Given the description of an element on the screen output the (x, y) to click on. 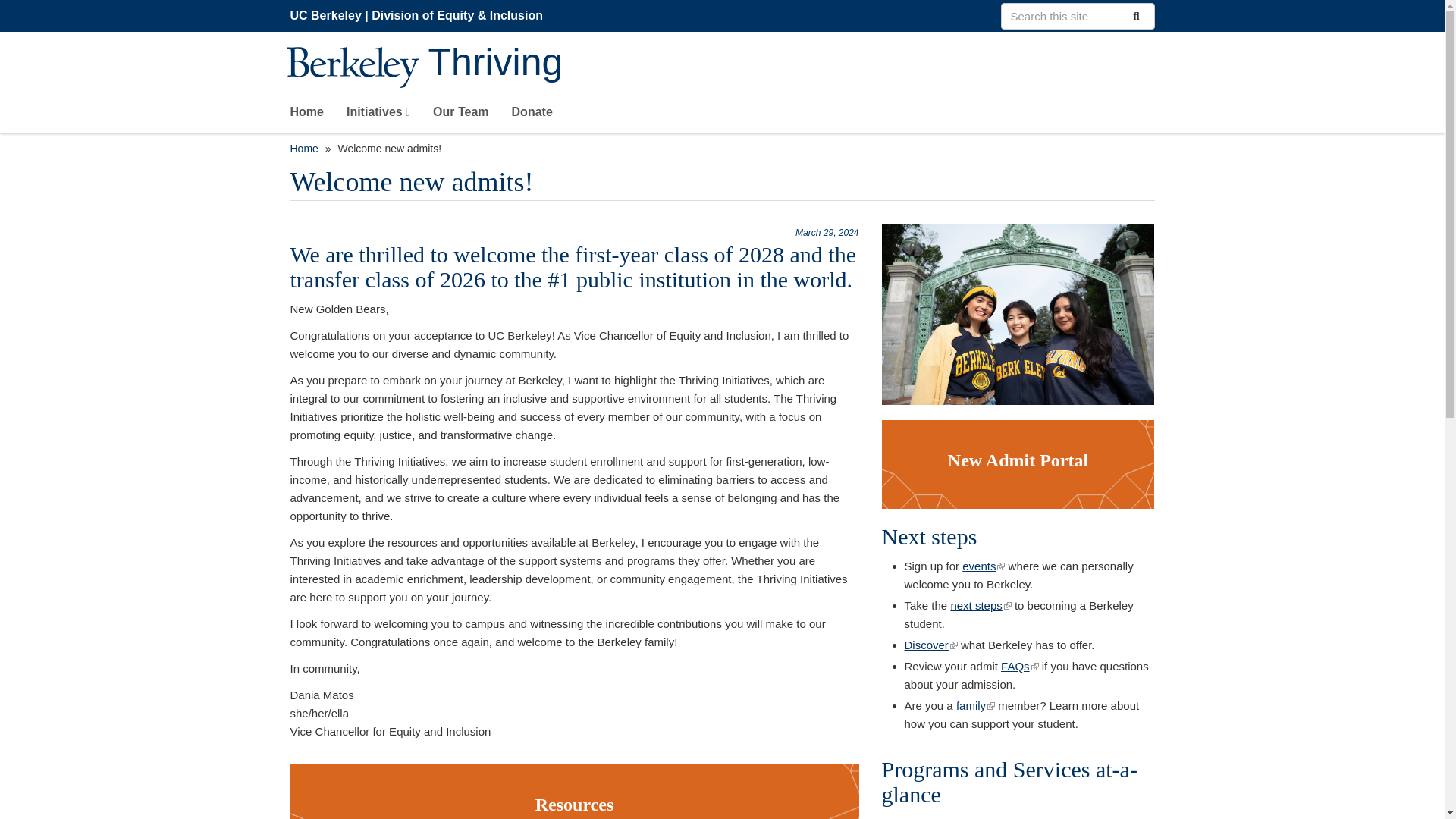
Home (303, 148)
Home (791, 63)
Home (306, 115)
UC Berkeley (325, 15)
Initiatives (378, 115)
Donate (532, 115)
Our Team (460, 115)
Thriving (791, 63)
Submit Search (1133, 15)
